Given the description of an element on the screen output the (x, y) to click on. 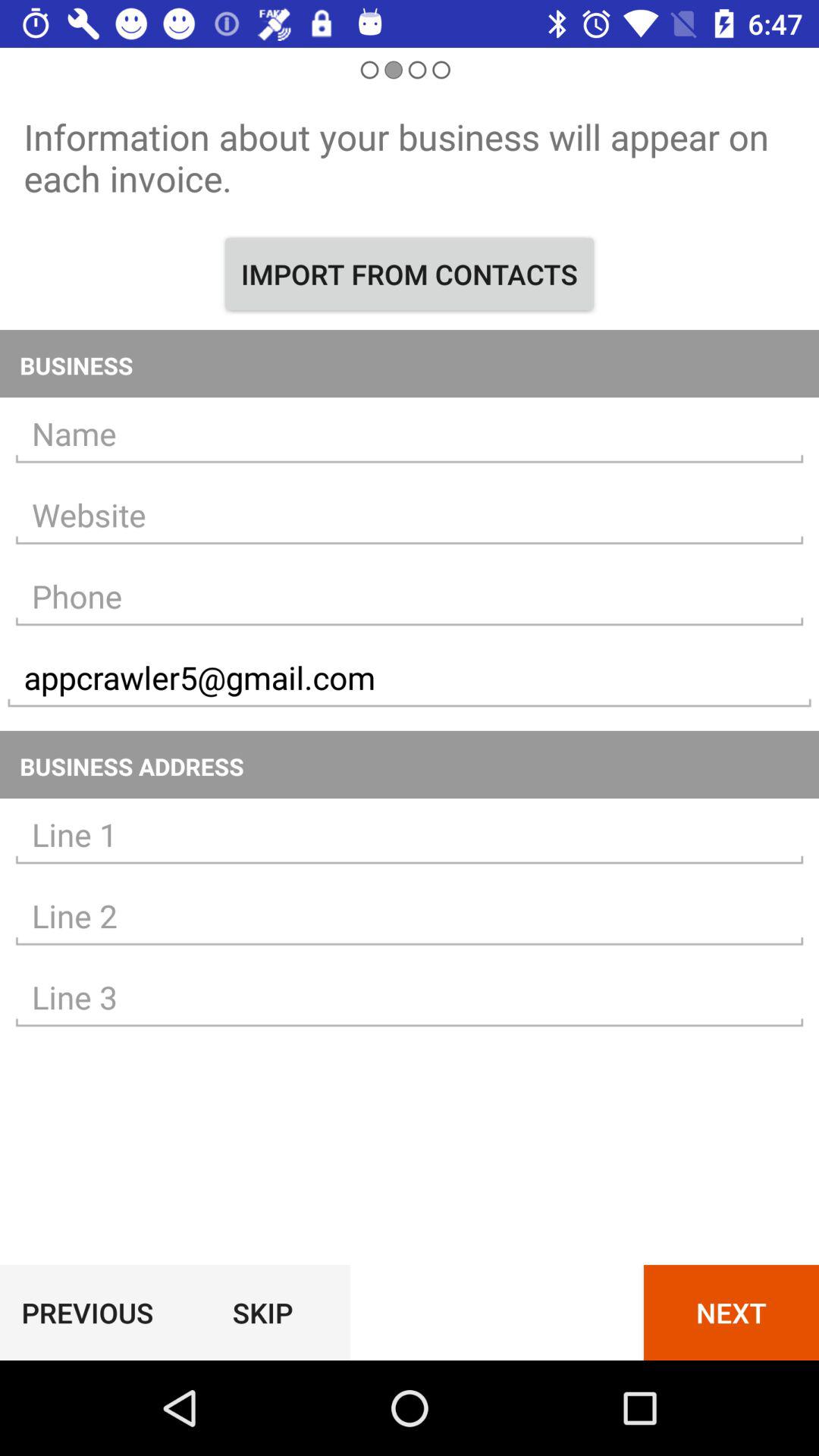
line 2 (409, 916)
